Given the description of an element on the screen output the (x, y) to click on. 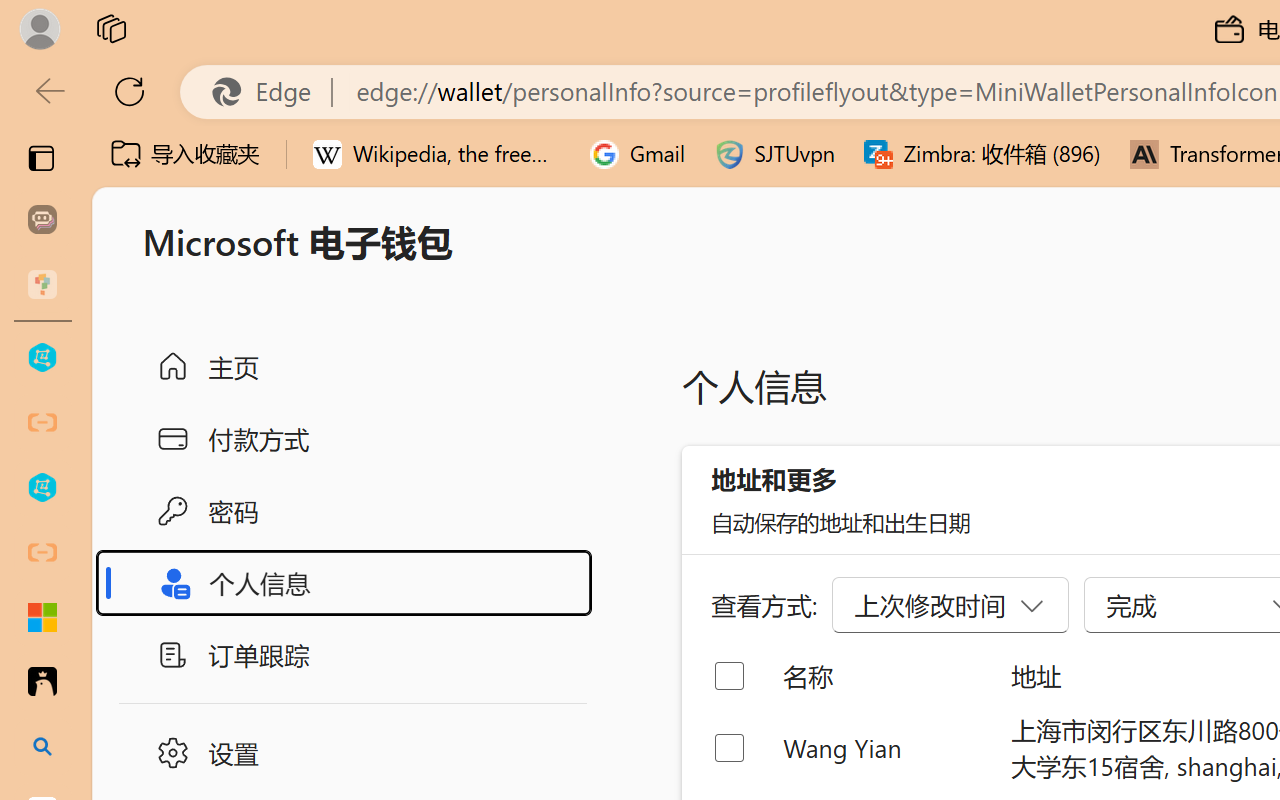
wangyian_dsw - DSW (42, 357)
